Given the description of an element on the screen output the (x, y) to click on. 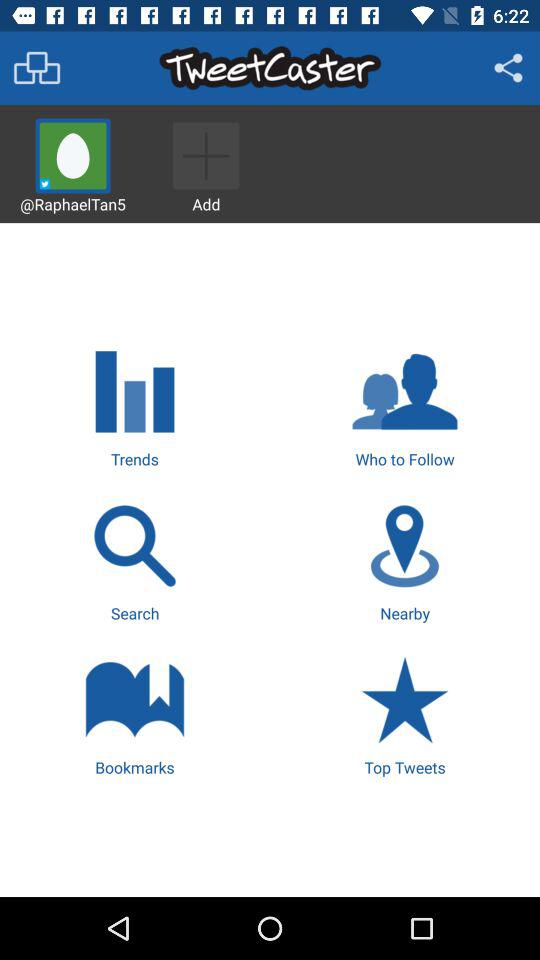
turn off the item to the left of the nearby item (134, 559)
